Given the description of an element on the screen output the (x, y) to click on. 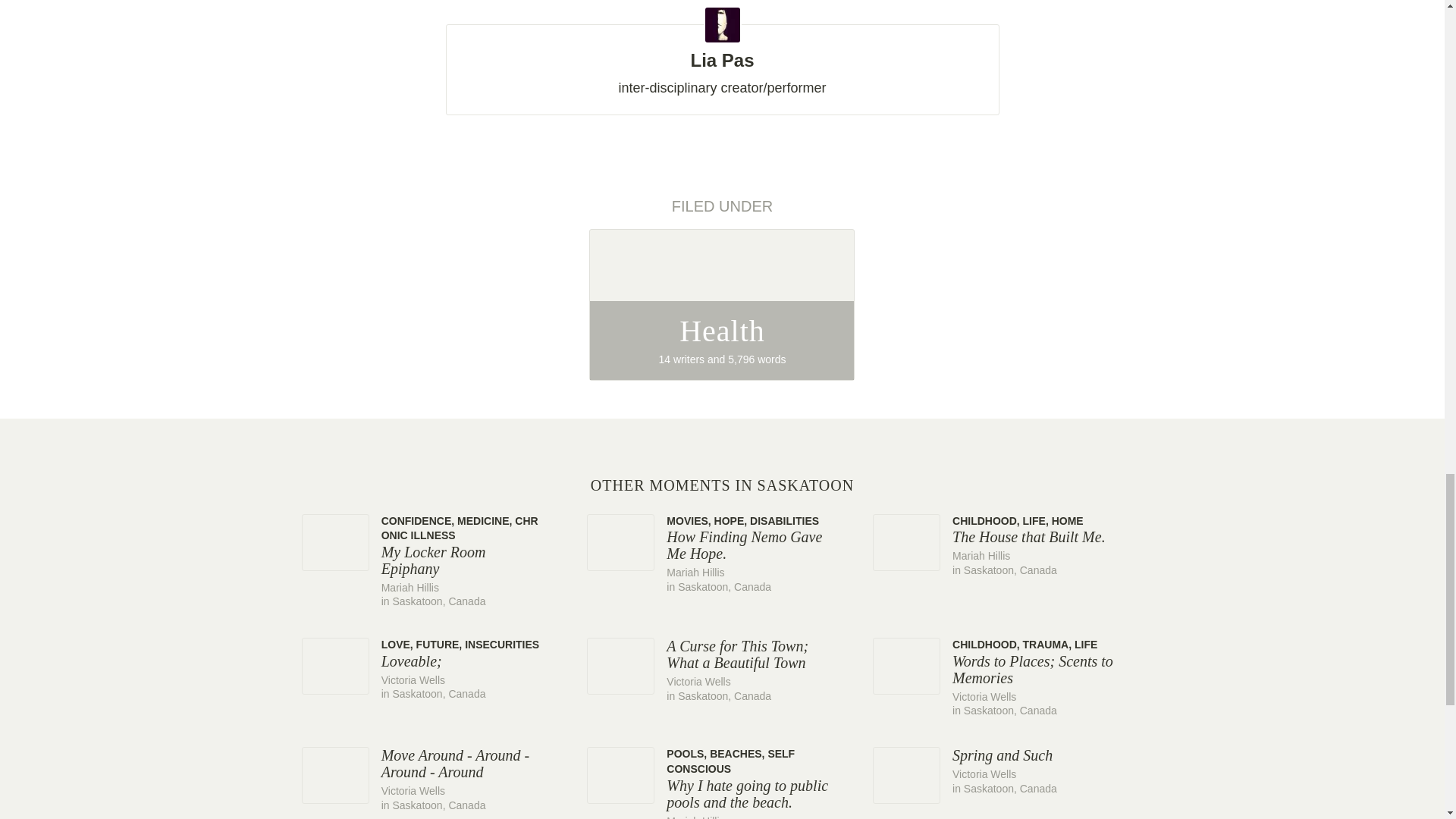
Lia Pas (721, 52)
OTHER MOMENTS IN SASKATOON (721, 304)
